Given the description of an element on the screen output the (x, y) to click on. 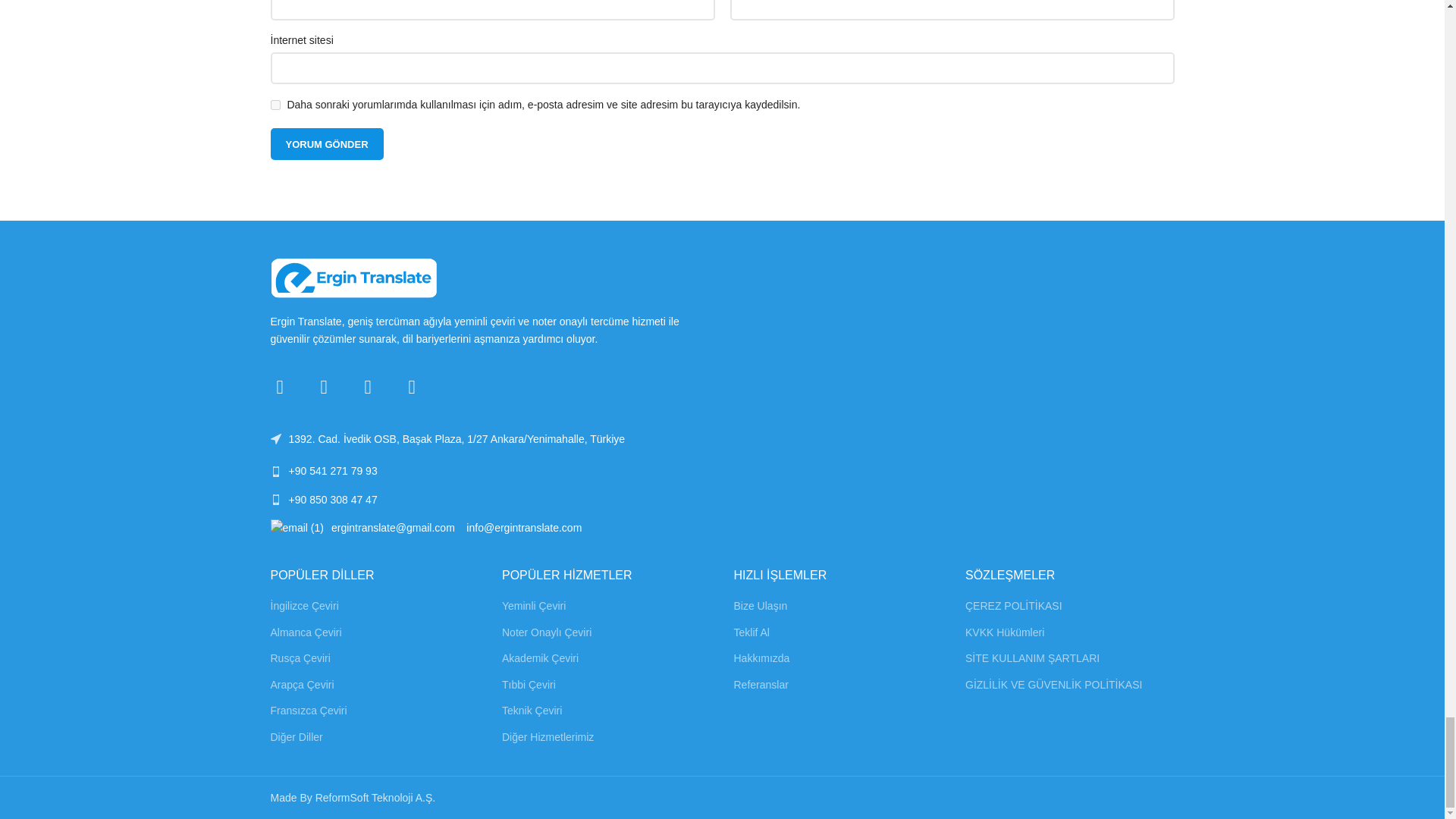
wd-cursor-light (275, 439)
yes (274, 121)
wd-phone-light (275, 499)
Ergin Translate (352, 286)
wd-phone-light (275, 470)
